Given the description of an element on the screen output the (x, y) to click on. 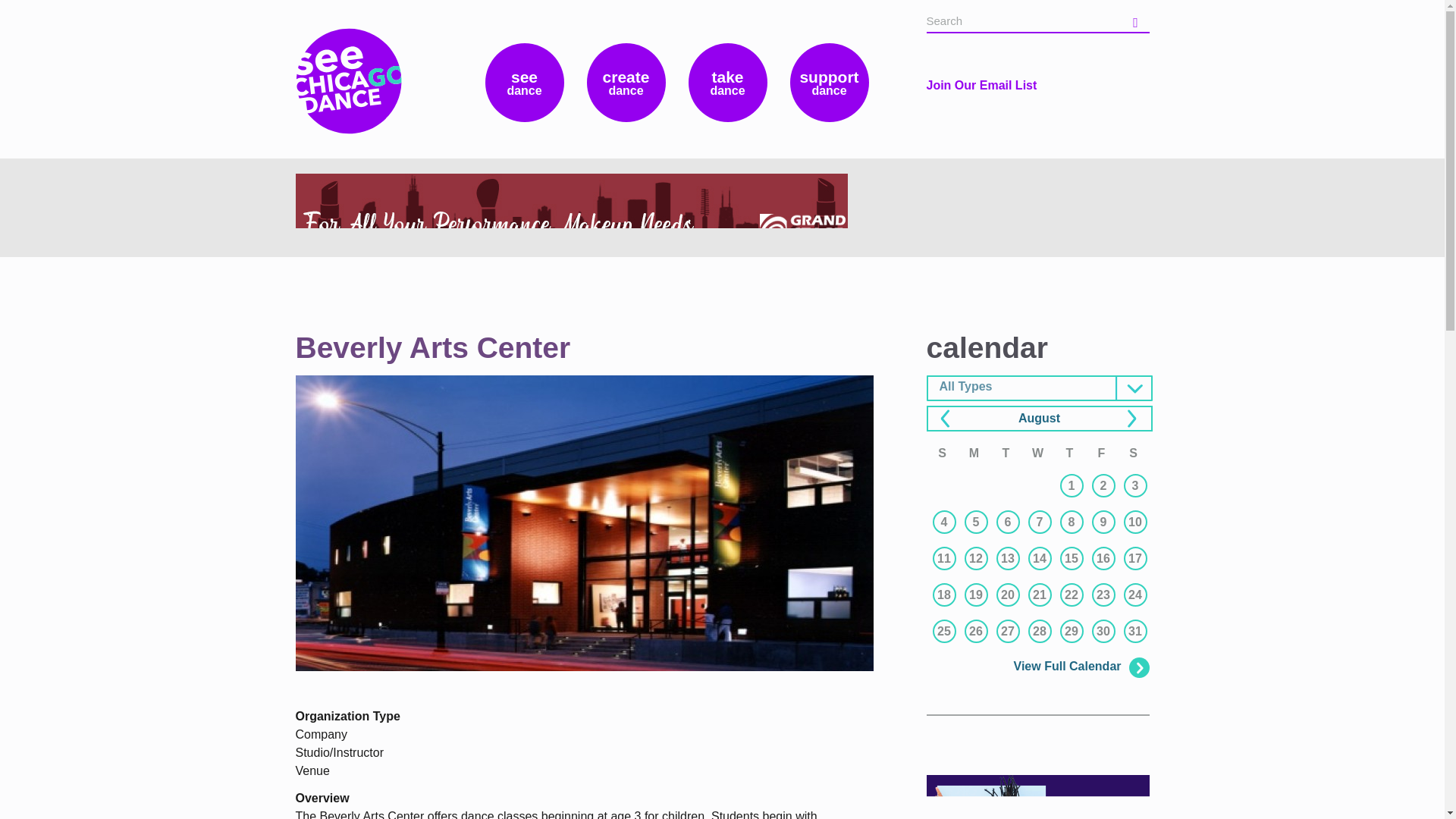
support (829, 82)
See Chicago Dance: Home (348, 67)
create (625, 82)
Search (1136, 20)
Enter the terms you wish to search for. (1022, 21)
Join Our Email List (981, 84)
Chicago Dance Month. Let Chicago Move You! Learn more. (1038, 796)
Navigate to previous month (949, 420)
View full page month (1038, 418)
